Given the description of an element on the screen output the (x, y) to click on. 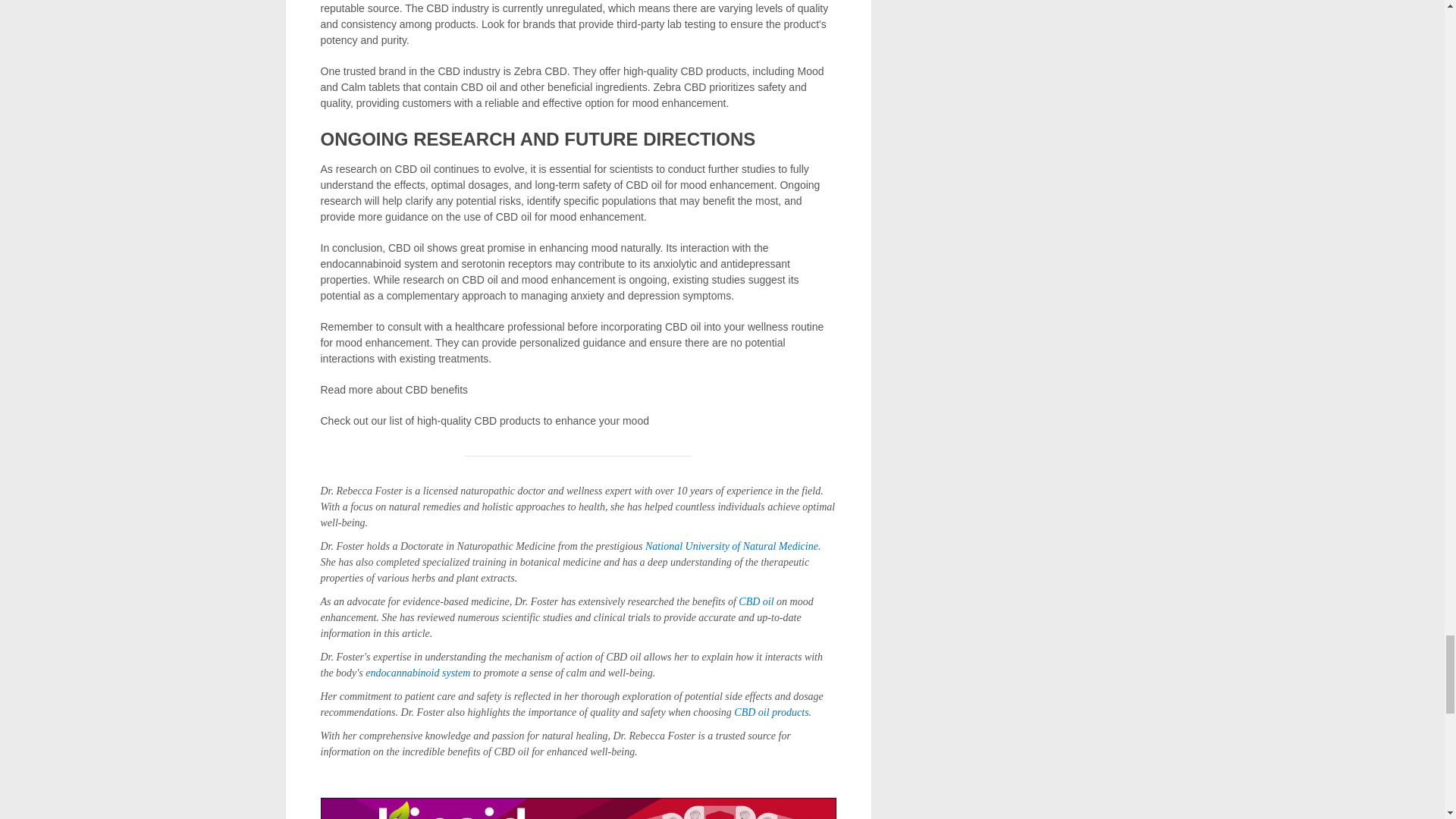
CBD oil (755, 601)
endocannabinoid system (417, 672)
National University of Natural Medicine (731, 545)
CBD oil products (770, 712)
